Given the description of an element on the screen output the (x, y) to click on. 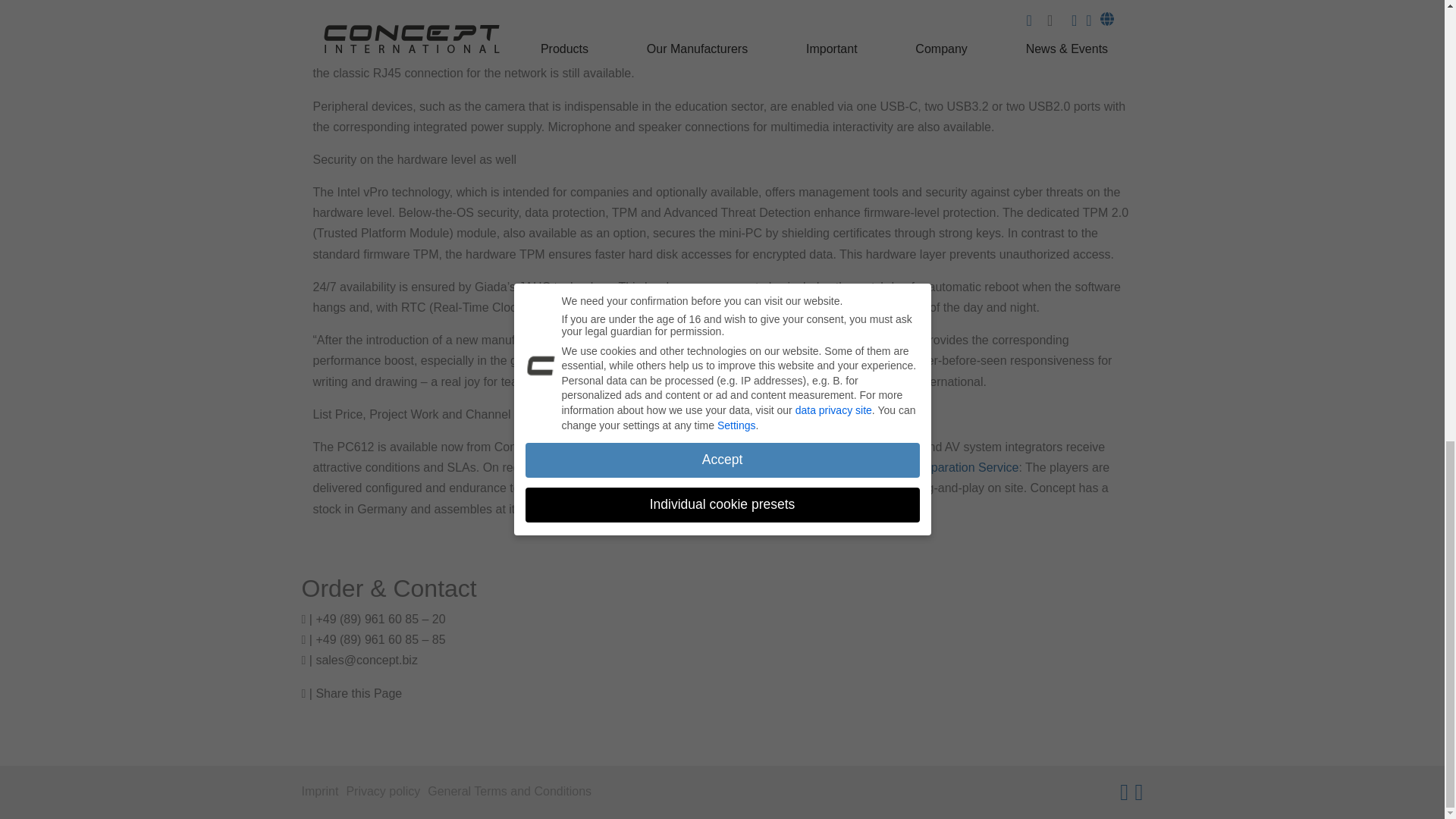
Concept Internation on LinkedIn (1138, 791)
Concept Internation on Xing (1123, 791)
